Given the description of an element on the screen output the (x, y) to click on. 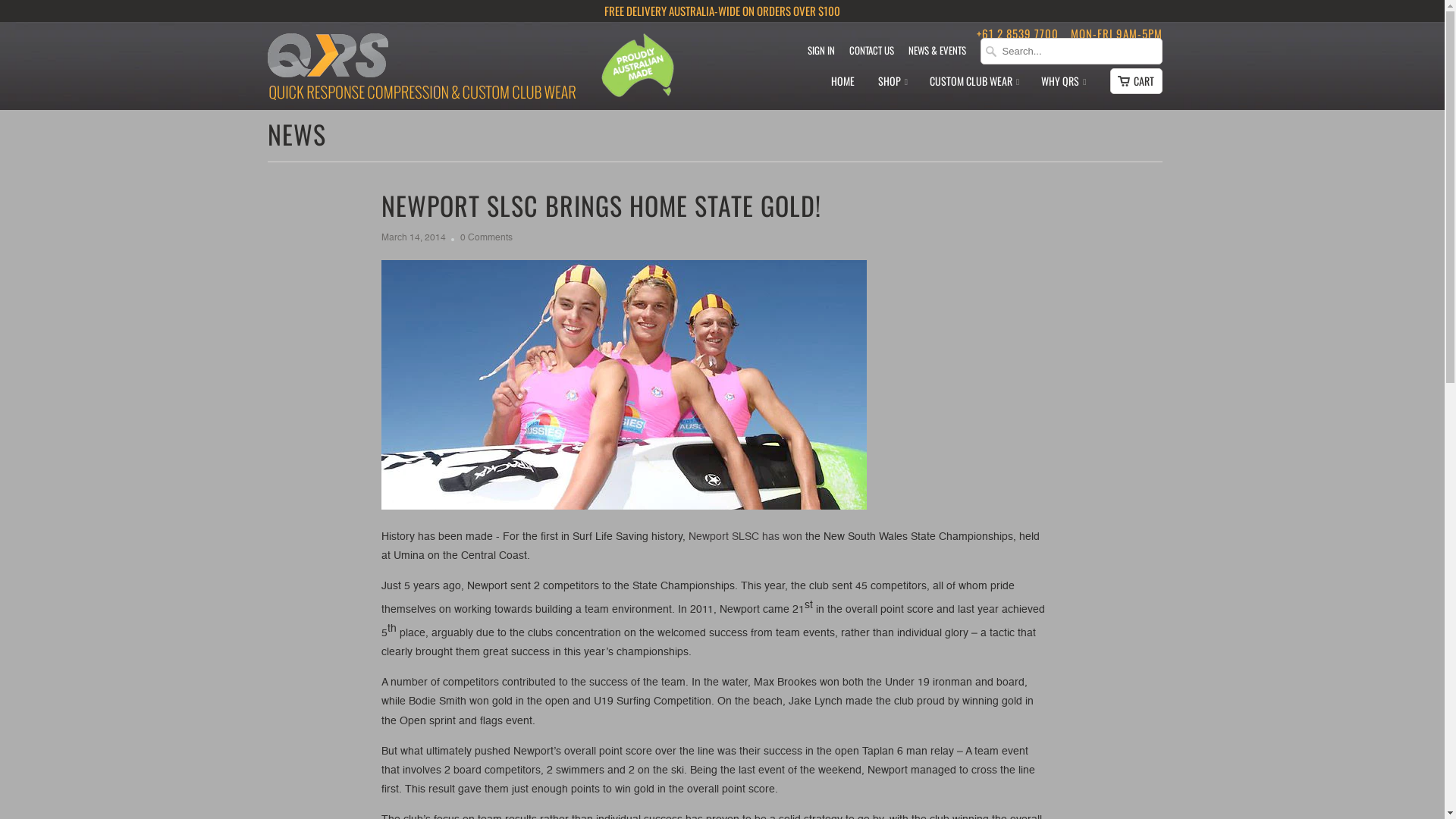
SIGN IN Element type: text (820, 53)
HOME Element type: text (842, 84)
+61 2 8539 7700 Element type: text (1017, 33)
NEWS & EVENTS Element type: text (937, 53)
CONTACT US Element type: text (871, 53)
0 Comments Element type: text (485, 237)
Newport SLSC has won Element type: text (745, 536)
Quick Response Element type: hover (420, 68)
CART Element type: text (1136, 81)
NEWS Element type: text (295, 133)
